Given the description of an element on the screen output the (x, y) to click on. 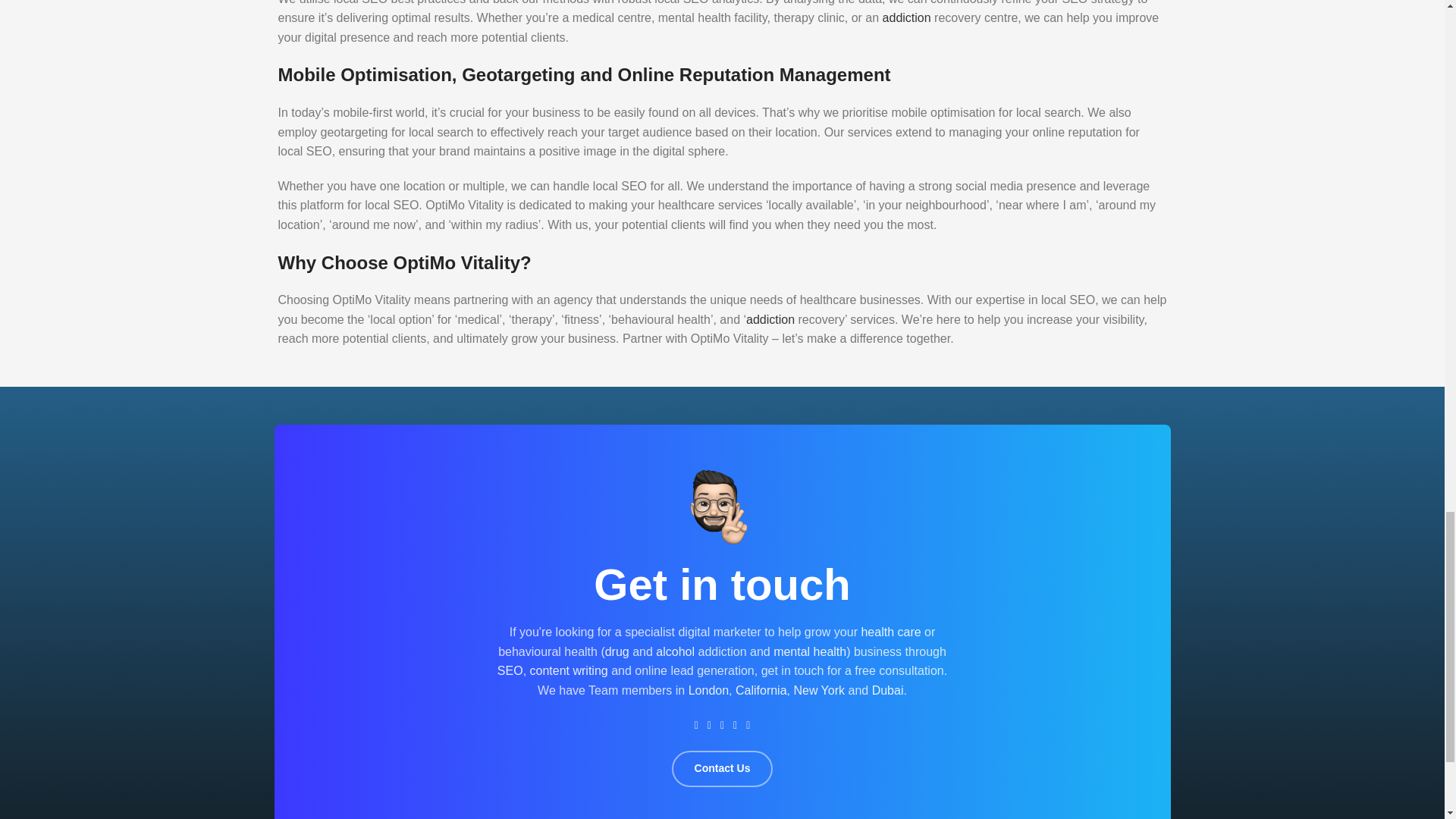
w-developer-face-3-min (721, 508)
addiction (769, 318)
addiction (906, 17)
